Given the description of an element on the screen output the (x, y) to click on. 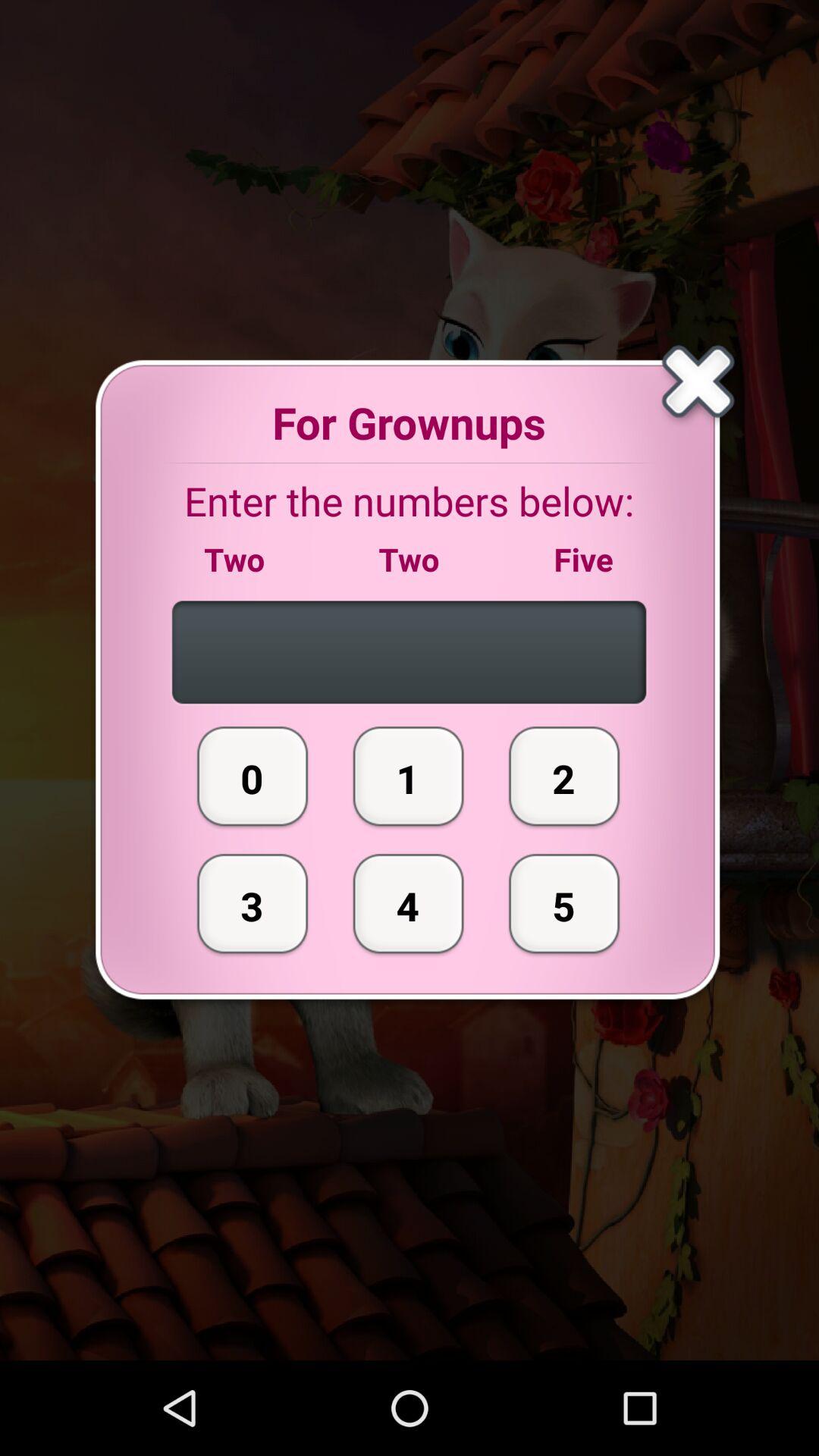
select button below the 1 item (408, 903)
